Given the description of an element on the screen output the (x, y) to click on. 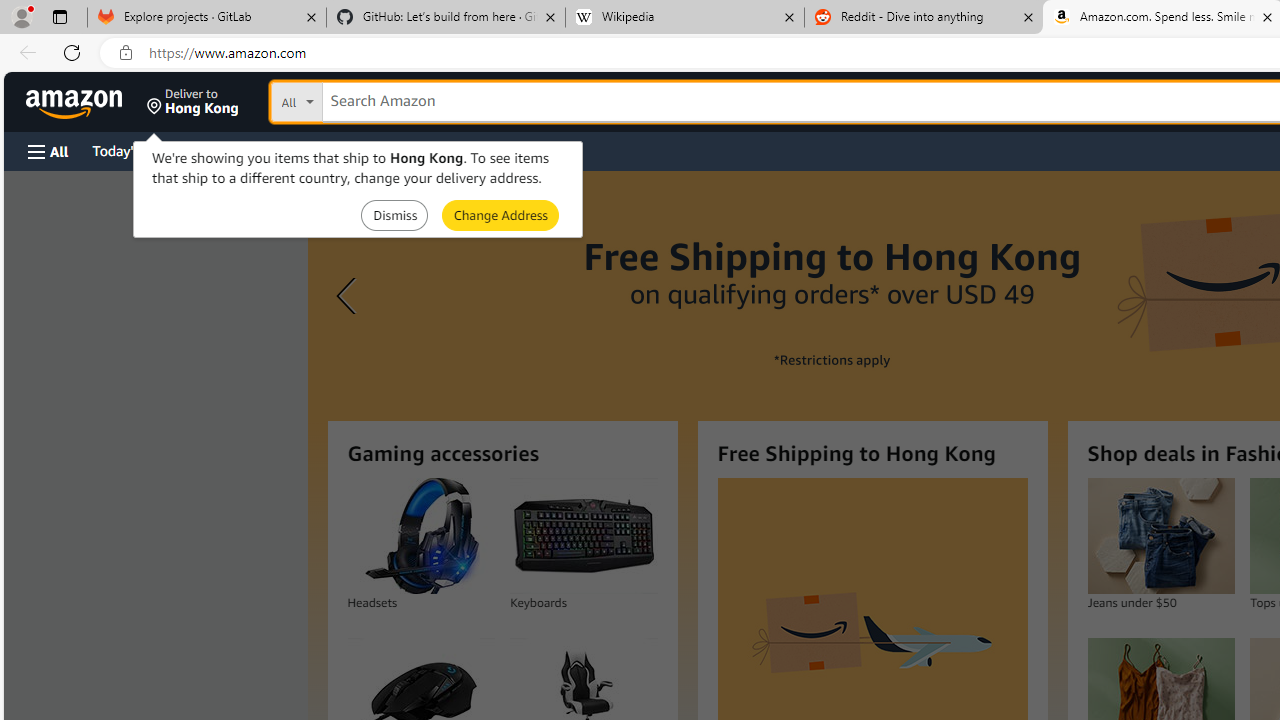
Previous slide (349, 296)
Keyboards (584, 536)
Search in (371, 102)
Open Menu (48, 151)
Jeans under $50 (1160, 536)
Keyboards (583, 536)
Headsets (420, 536)
Customer Service (256, 150)
Today's Deals (134, 150)
Deliver to Hong Kong (193, 101)
